Given the description of an element on the screen output the (x, y) to click on. 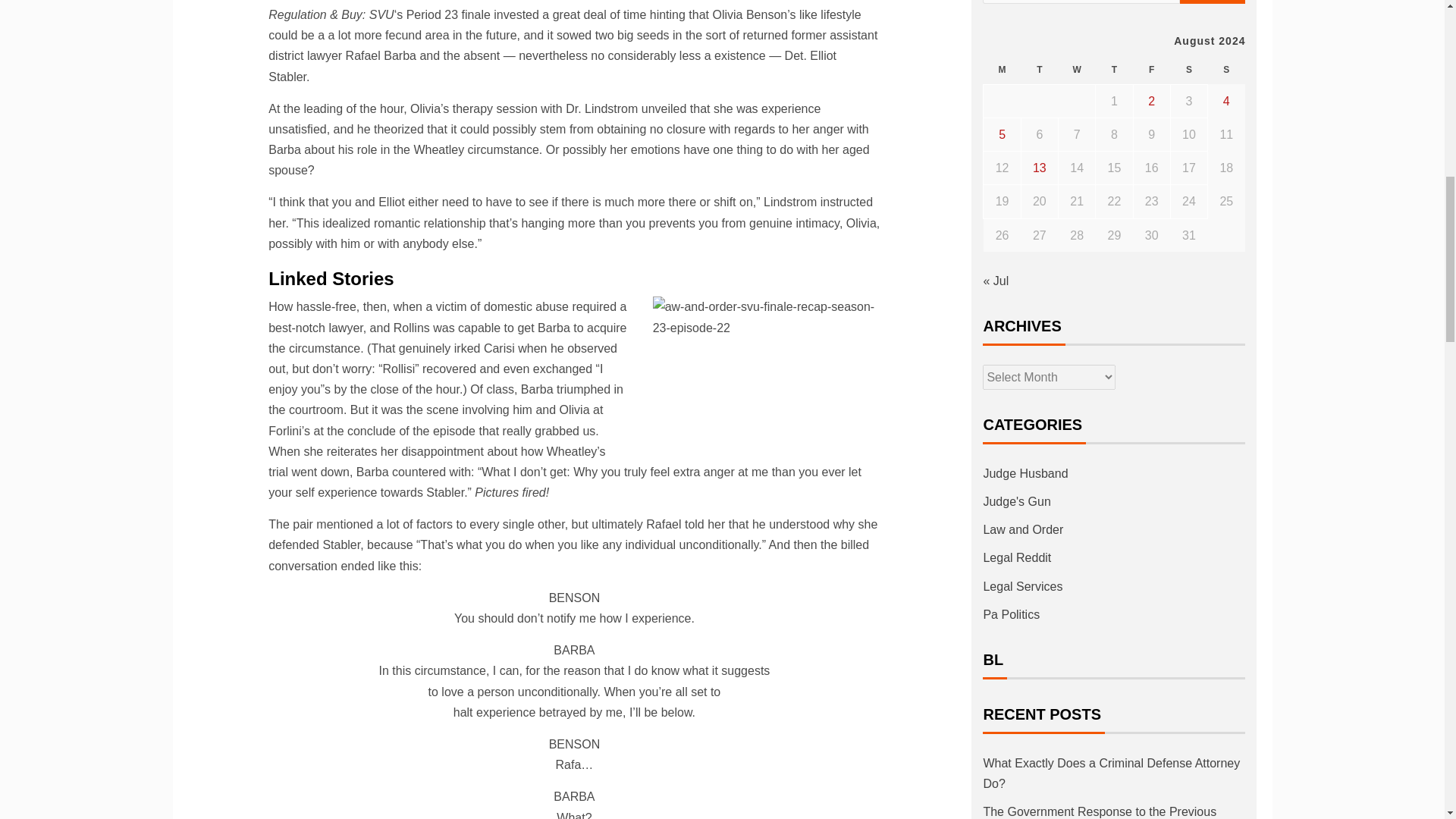
Search (1212, 2)
Friday (1151, 70)
Saturday (1188, 70)
Wednesday (1077, 70)
Search (1212, 2)
Thursday (1114, 70)
Tuesday (1039, 70)
Monday (1002, 70)
